Given the description of an element on the screen output the (x, y) to click on. 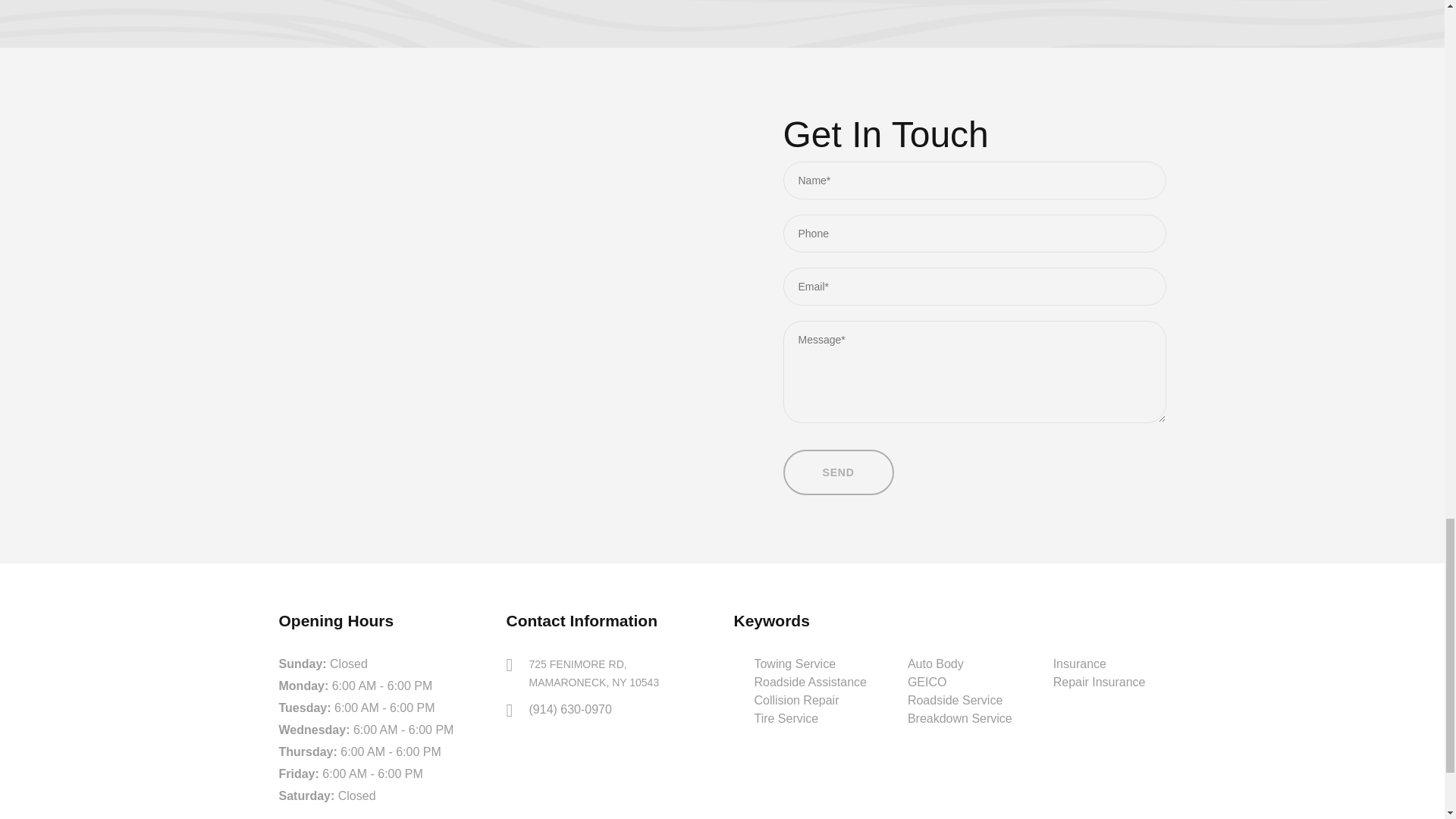
GEICO (927, 681)
GEICO (959, 682)
Breakdown Service (959, 719)
Breakdown Service (959, 717)
Roadside Service (959, 700)
Collision Repair (796, 699)
Roadside Assistance (810, 682)
SEND (838, 472)
Insurance (1098, 664)
GEICO (927, 681)
Repair Insurance (1098, 681)
Insurance (1079, 663)
Collision Repair (796, 699)
Roadside Service (955, 699)
Roadside Assistance (810, 681)
